Given the description of an element on the screen output the (x, y) to click on. 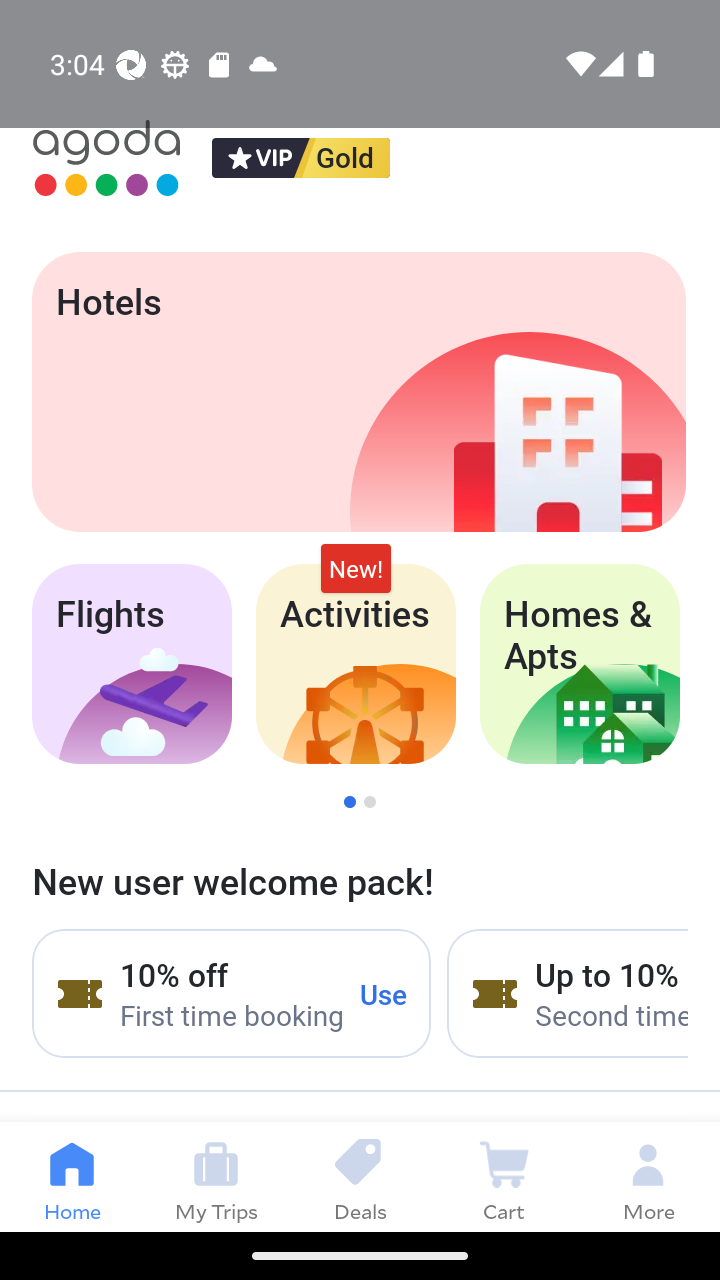
Hotels (358, 392)
New! (355, 568)
Flights (131, 664)
Activities (355, 664)
Homes & Apts (579, 664)
Use (384, 993)
Home (72, 1176)
My Trips (216, 1176)
Deals (360, 1176)
Cart (504, 1176)
More (648, 1176)
